Given the description of an element on the screen output the (x, y) to click on. 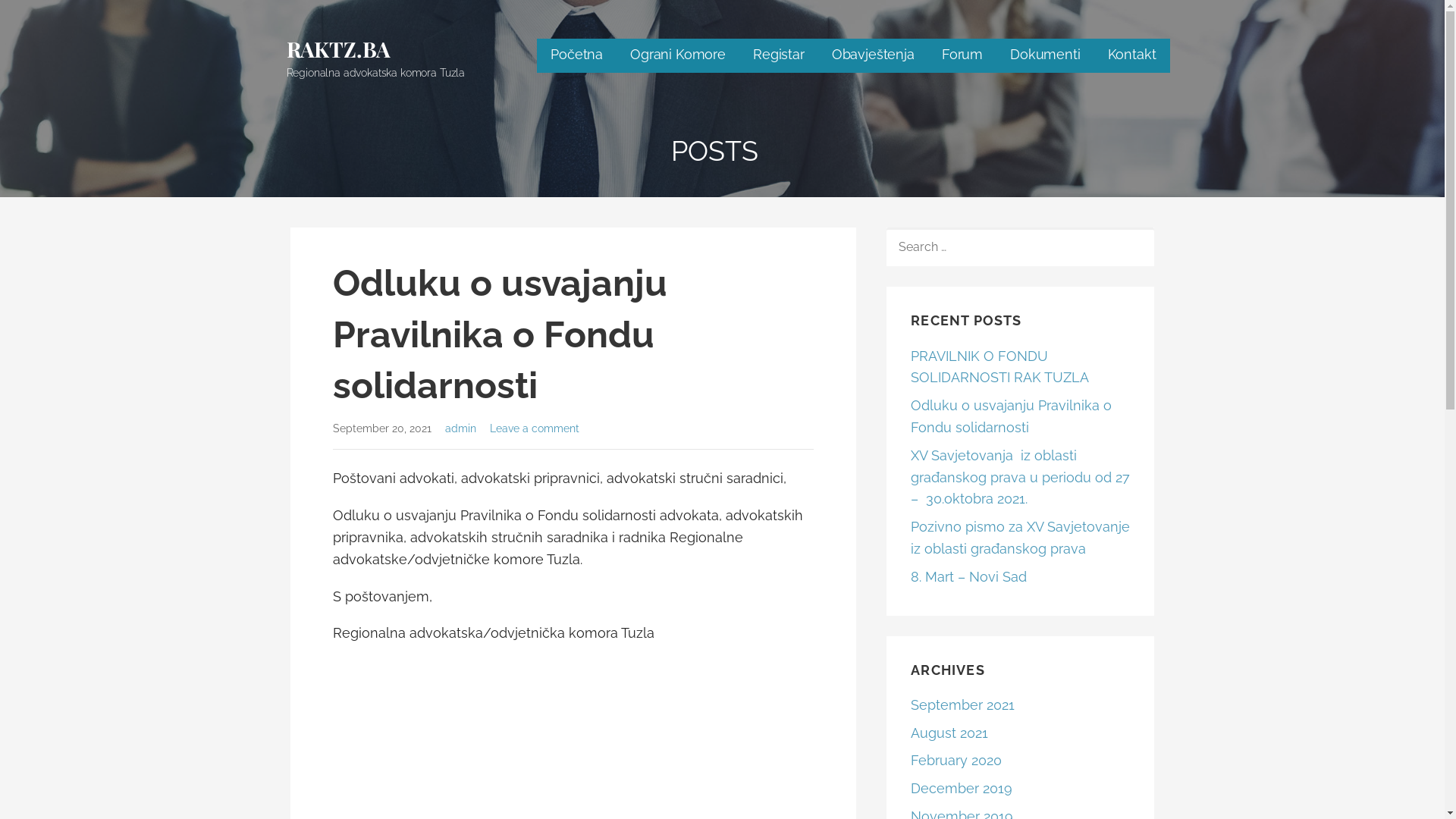
Dokumenti Element type: text (1045, 55)
Odluku o usvajanju Pravilnika o Fondu solidarnosti Element type: text (1010, 416)
PRAVILNIK O FONDU SOLIDARNOSTI RAK TUZLA Element type: text (999, 366)
Kontakt Element type: text (1131, 55)
RAKTZ.BA Element type: text (338, 48)
Registar Element type: text (778, 55)
Leave a comment Element type: text (534, 427)
December 2019 Element type: text (961, 788)
admin Element type: text (460, 427)
February 2020 Element type: text (955, 760)
August 2021 Element type: text (949, 732)
Forum Element type: text (961, 55)
September 2021 Element type: text (962, 704)
Search Element type: text (46, 17)
Ograni Komore Element type: text (677, 55)
